Given the description of an element on the screen output the (x, y) to click on. 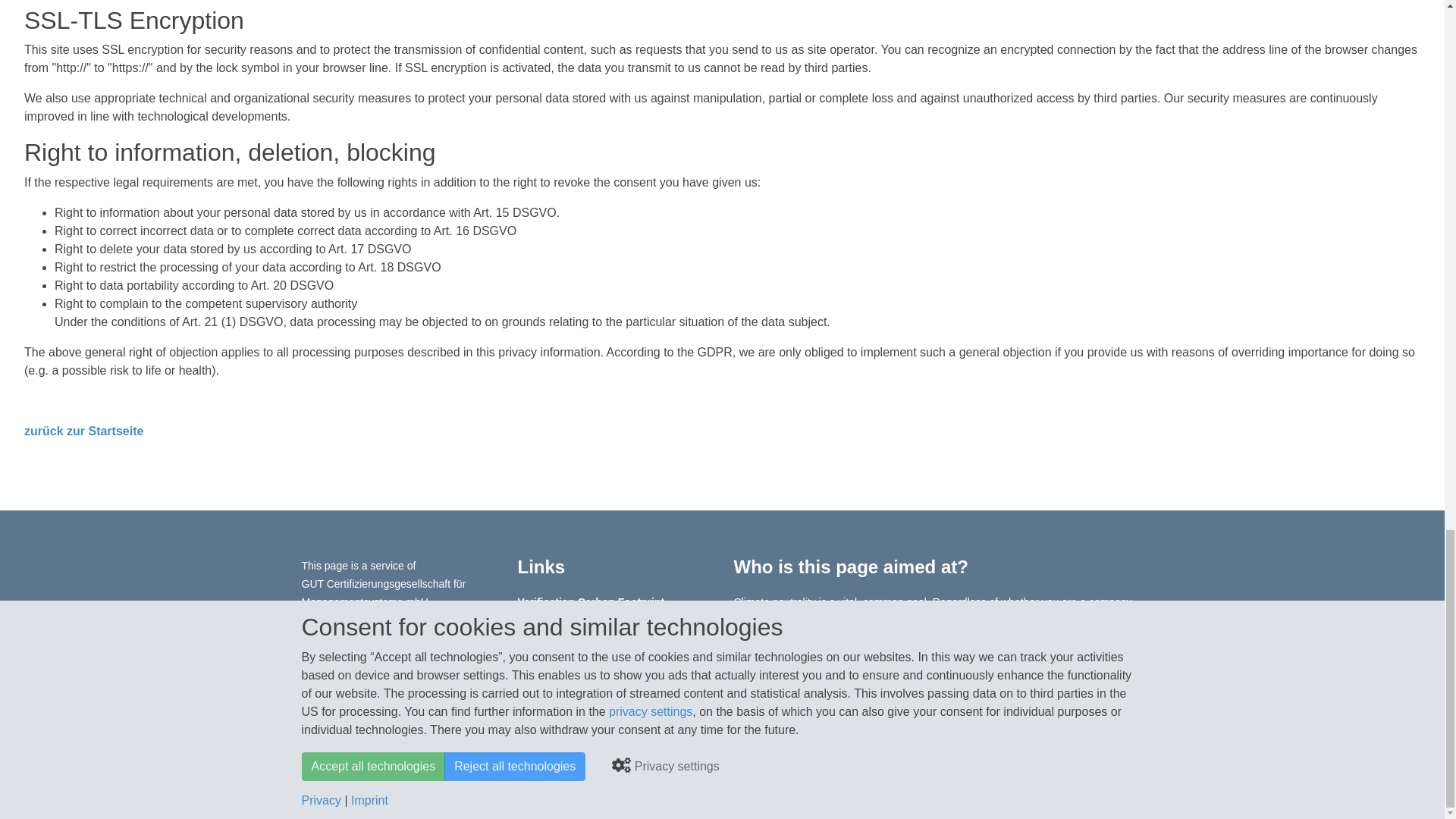
Verification of climate neutrality (597, 620)
Privacy (320, 741)
XING (582, 708)
Cookies (413, 741)
Link for Cookies (413, 741)
Imprint (365, 741)
YouTube (625, 708)
LinkedIn (538, 708)
Verification Carbon Footprint (589, 602)
